Given the description of an element on the screen output the (x, y) to click on. 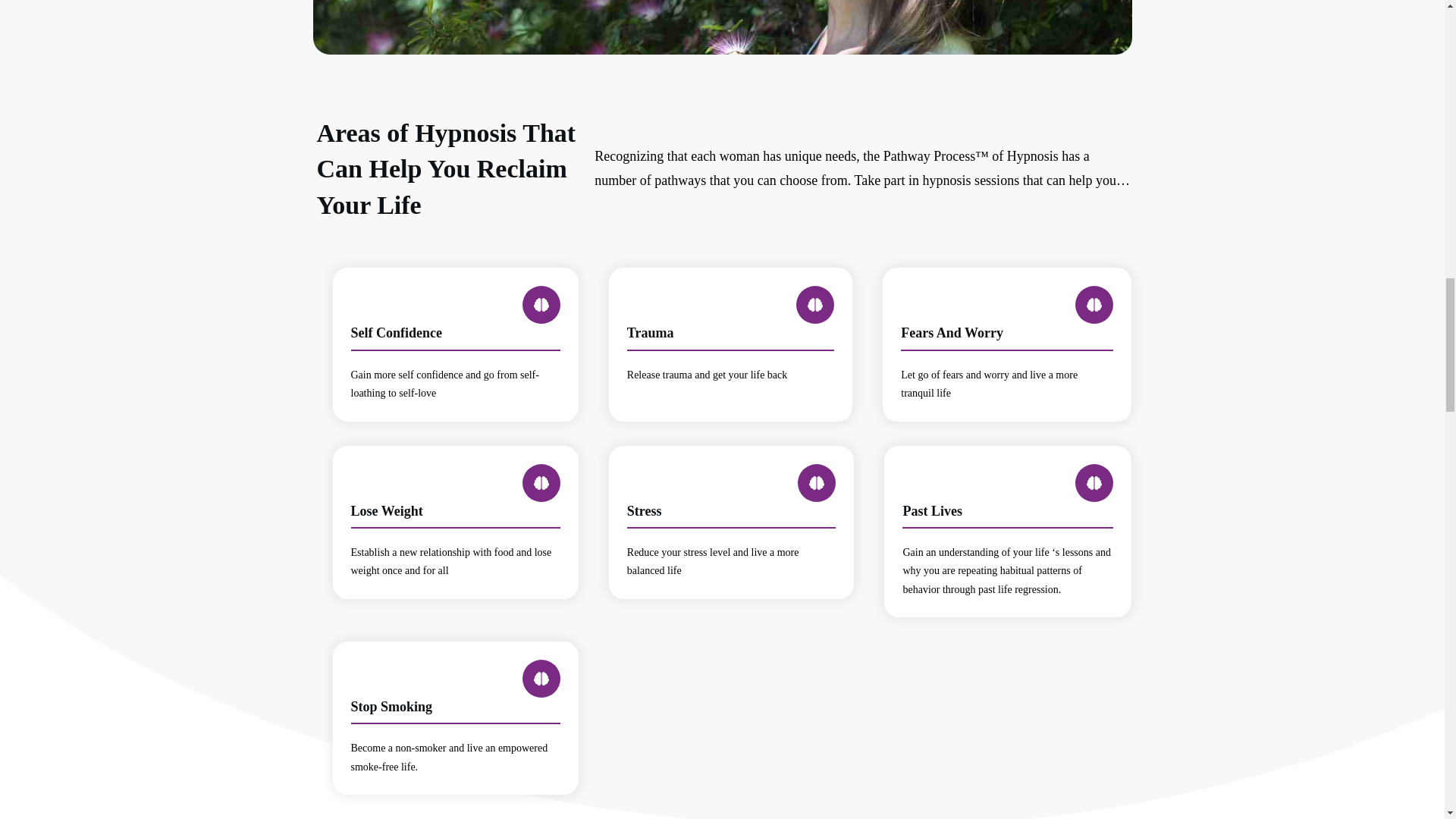
pexels-photo-321576 (729, 351)
